Given the description of an element on the screen output the (x, y) to click on. 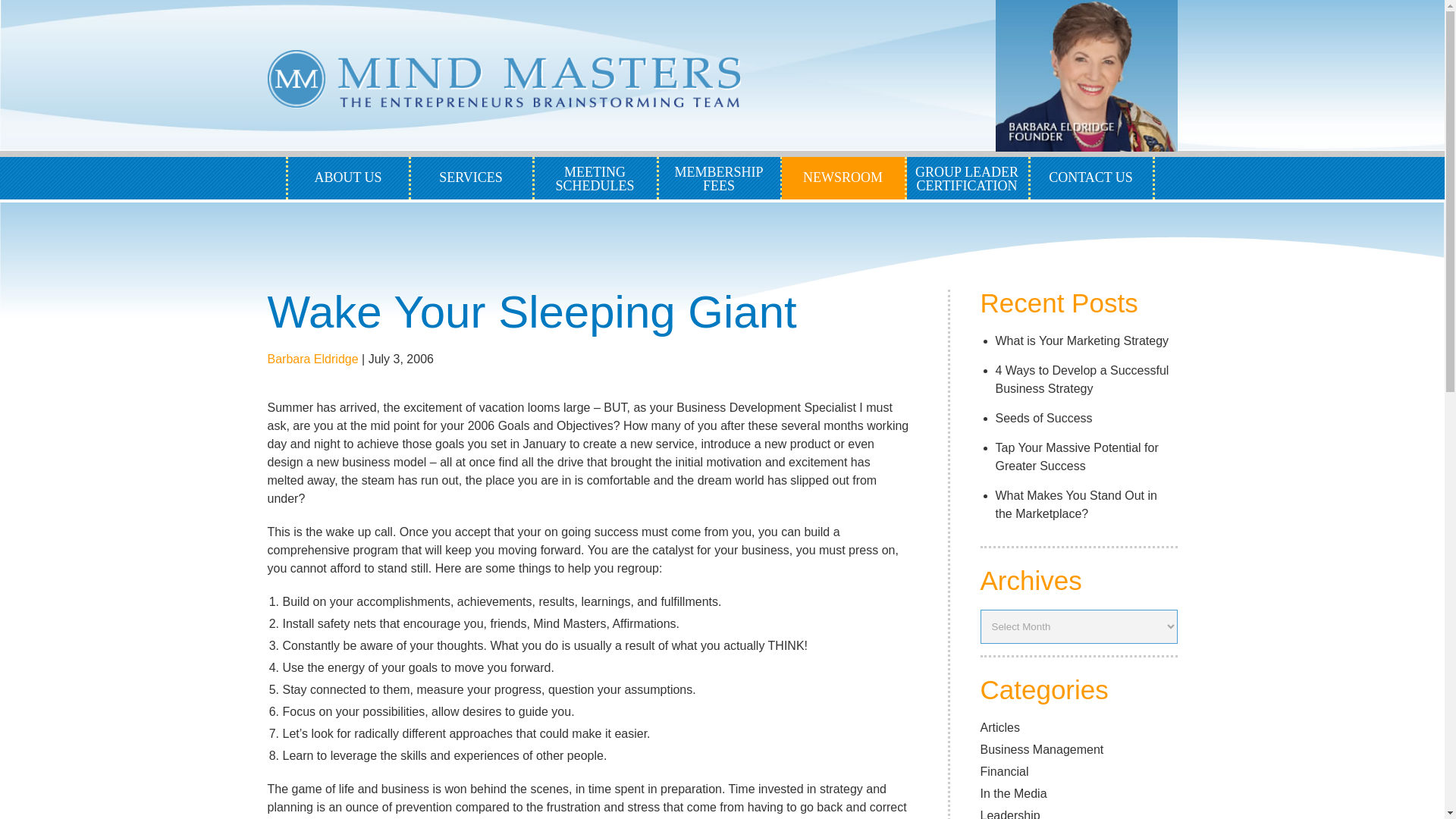
4 Ways to Develop a Successful Business Strategy (1081, 378)
CONTACT US (1091, 178)
Financial (1003, 771)
Seeds of Success (1043, 418)
Business Management (1041, 748)
Articles (999, 727)
Tap Your Massive Potential for Greater Success (967, 178)
SERVICES (1075, 456)
NEWSROOM (471, 178)
Posts by Barbara Eldridge (842, 178)
Wake Your Sleeping Giant (312, 358)
In the Media (531, 311)
What is Your Marketing Strategy (1012, 793)
What Makes You Stand Out in the Marketplace? (1081, 340)
